Given the description of an element on the screen output the (x, y) to click on. 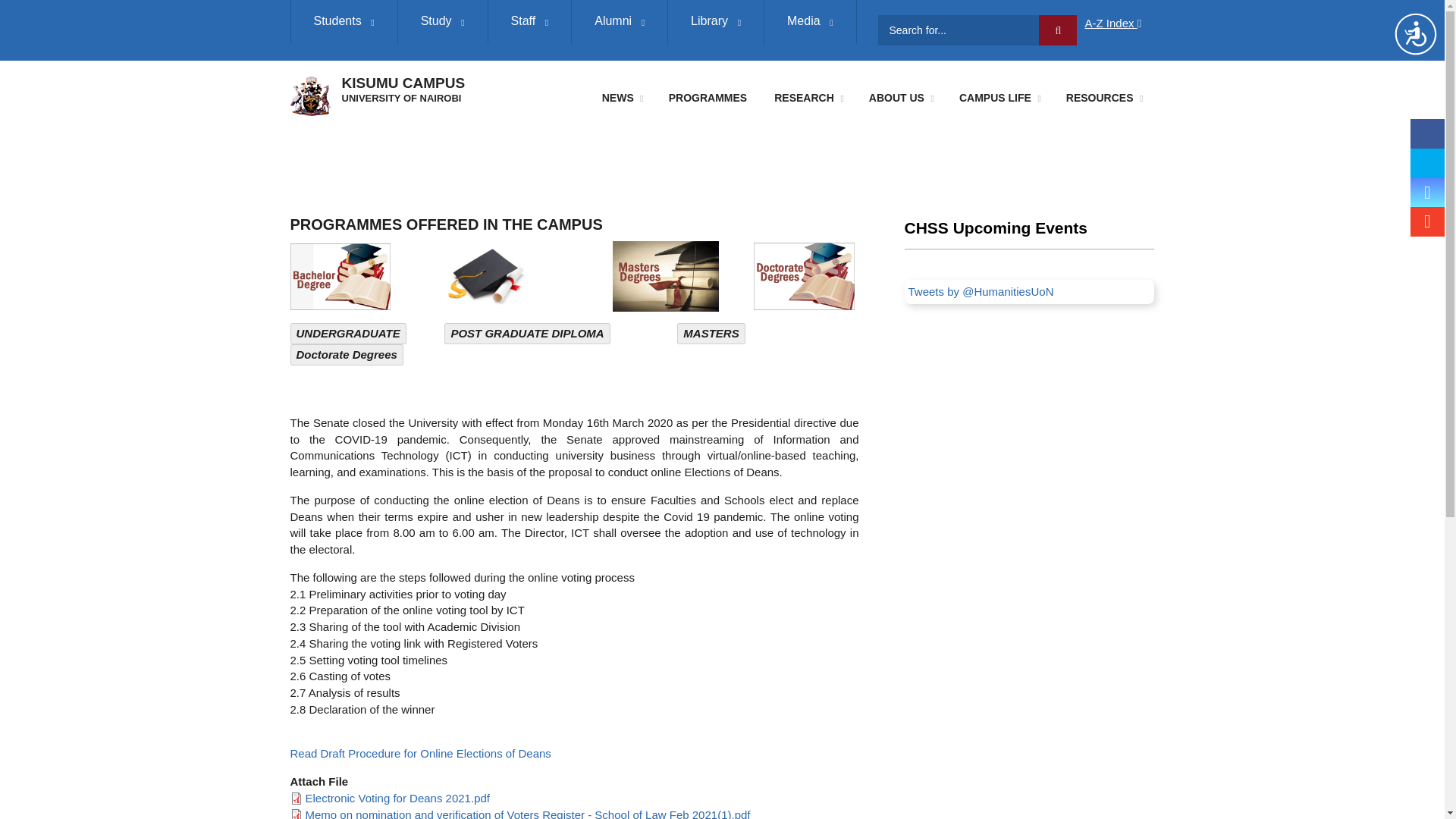
Information about Schools Faculties (442, 22)
Students (342, 22)
Study (442, 22)
Search (1058, 30)
Students Information (342, 22)
Accessibility Menu (1415, 33)
Search (1058, 30)
